Given the description of an element on the screen output the (x, y) to click on. 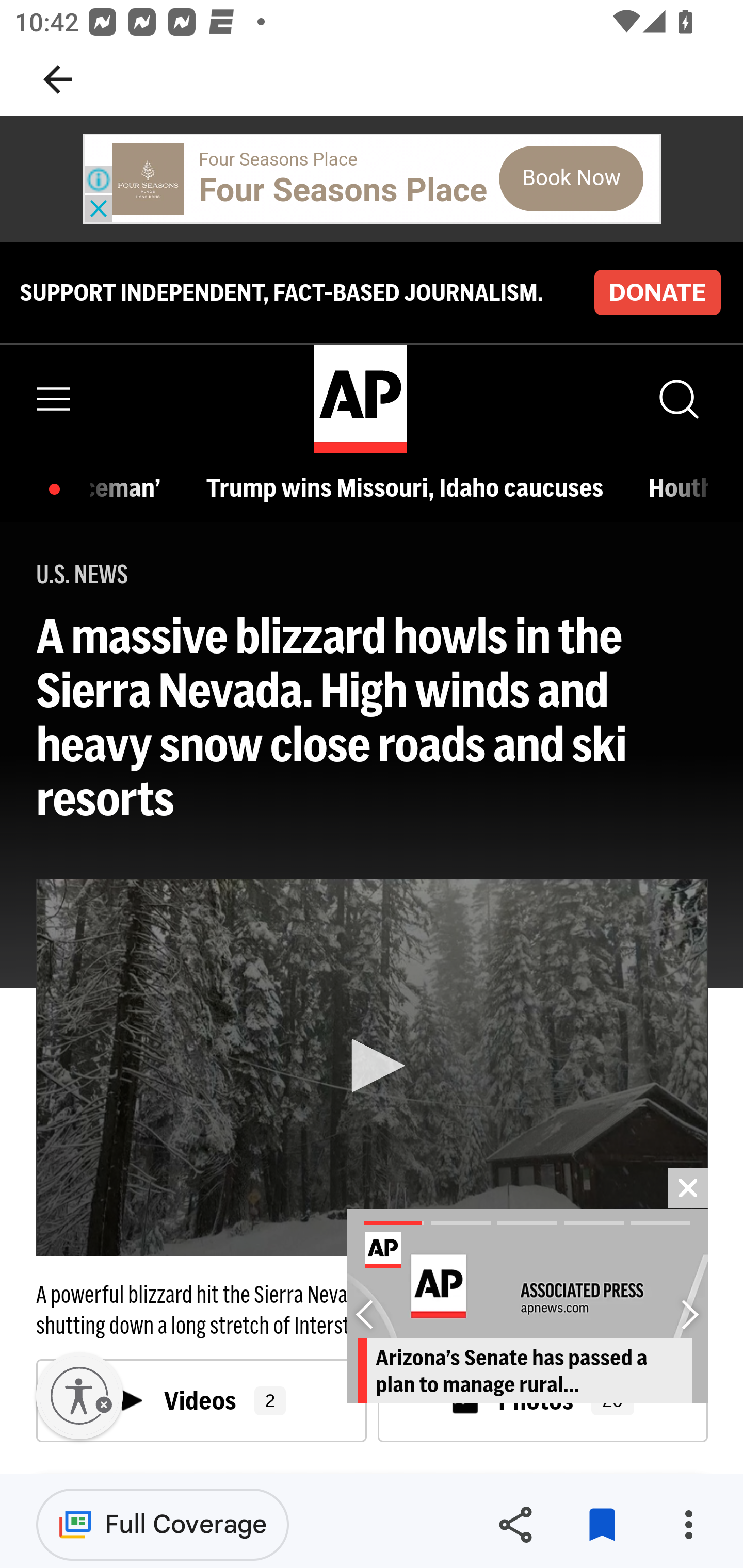
Navigate up (57, 79)
Book Now (571, 178)
Four Seasons Place (278, 158)
Four Seasons Place (342, 190)
DONATE (657, 291)
home page AP Logo (359, 398)
Menu (54, 398)
Show Search (677, 398)
Adam Sandler in ‘Spaceman’ (130, 487)
Trump wins Missouri, Idaho caucuses (409, 487)
U.S. NEWS (83, 574)
Unable to play media. (372, 1067)
Play (372, 1066)
Share (514, 1524)
Remove from saved stories (601, 1524)
More options (688, 1524)
Full Coverage (162, 1524)
